Given the description of an element on the screen output the (x, y) to click on. 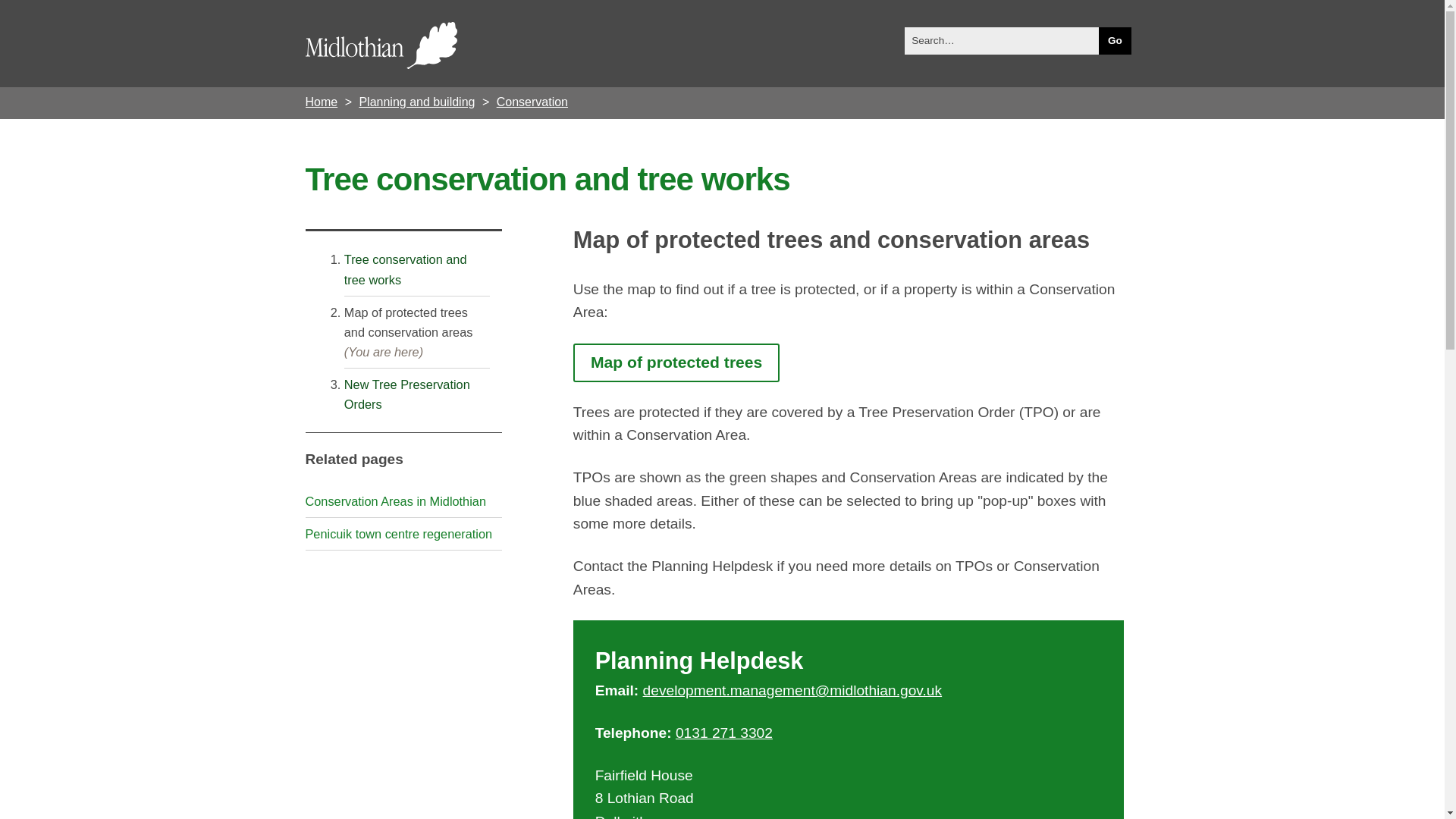
Tree conservation and tree works (405, 268)
Penicuik town centre regeneration (398, 533)
Conservation Areas in Midlothian (394, 500)
New Tree Preservation Orders (406, 394)
Midlothian Council (473, 48)
Conservation (531, 101)
Go (1115, 41)
Go (1115, 41)
Home (320, 101)
Planning and building (416, 101)
Map of protected trees (676, 362)
0131 271 3302 (724, 732)
